Given the description of an element on the screen output the (x, y) to click on. 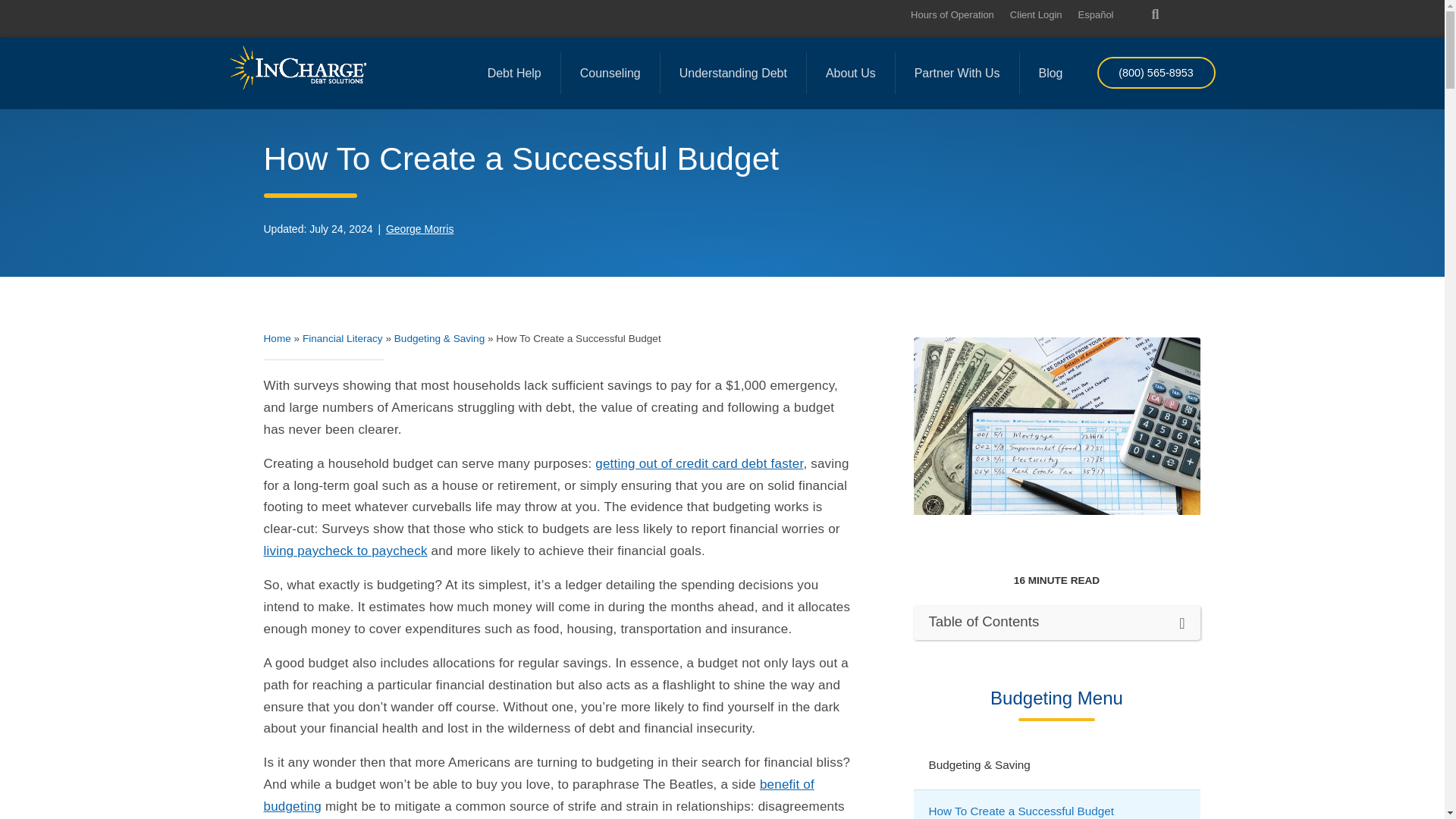
Client Login (1036, 13)
Debt Help (514, 73)
Hours of Operation (951, 13)
How To Make A Budget (1055, 426)
Understanding Debt (733, 73)
Click Here (1155, 72)
Counseling (609, 73)
InCharge Logo White and Yellow (296, 67)
